Given the description of an element on the screen output the (x, y) to click on. 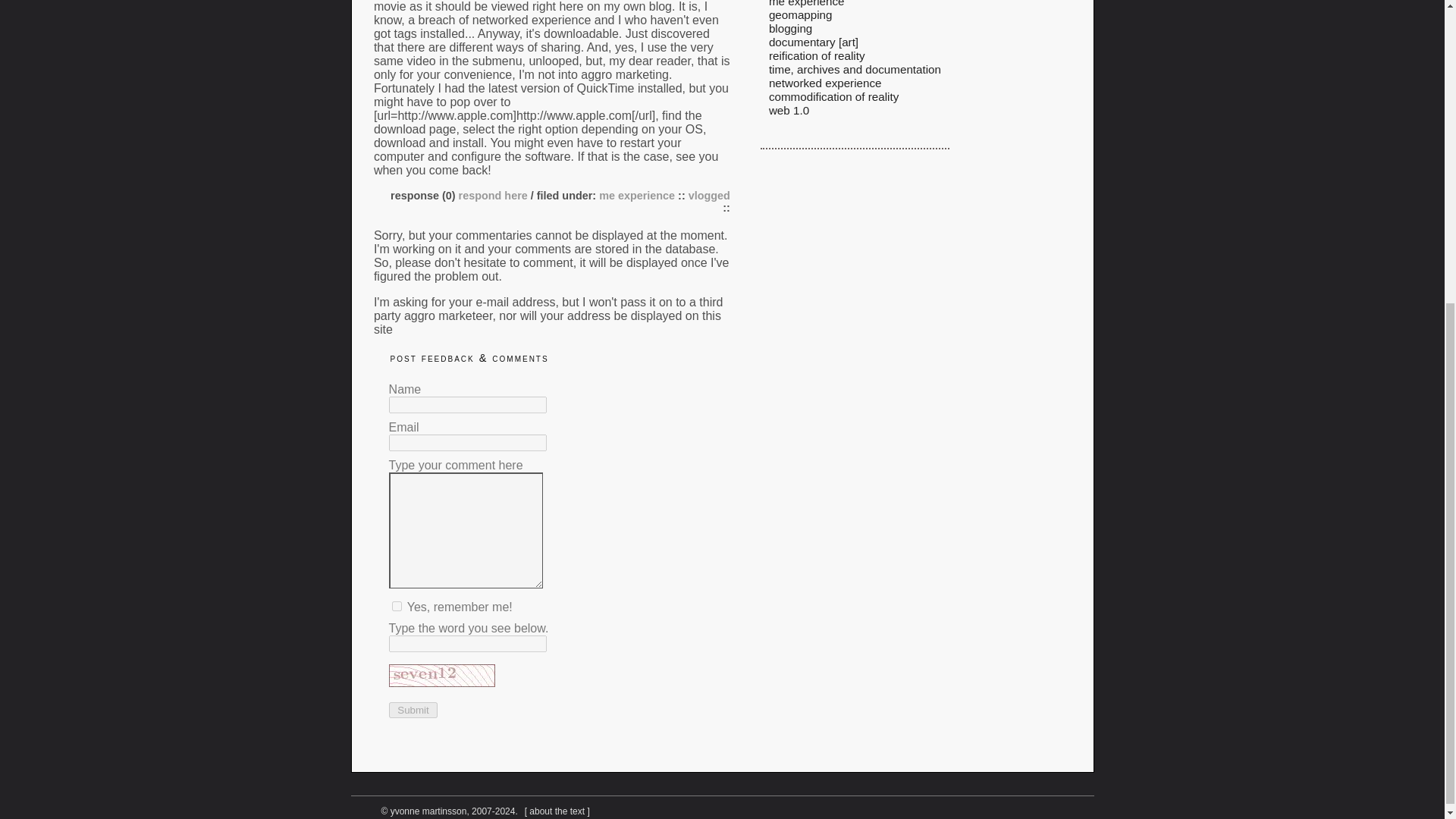
blogging (790, 28)
geomapping (800, 14)
yes (396, 605)
me experience (636, 194)
networked experience (825, 82)
commodification of reality (833, 96)
reification of reality (816, 55)
web 1.0 (788, 110)
me experience (806, 3)
respond here (491, 194)
time, archives and documentation (854, 69)
 Submit  (413, 709)
vlogged (709, 194)
 Submit  (413, 709)
